Given the description of an element on the screen output the (x, y) to click on. 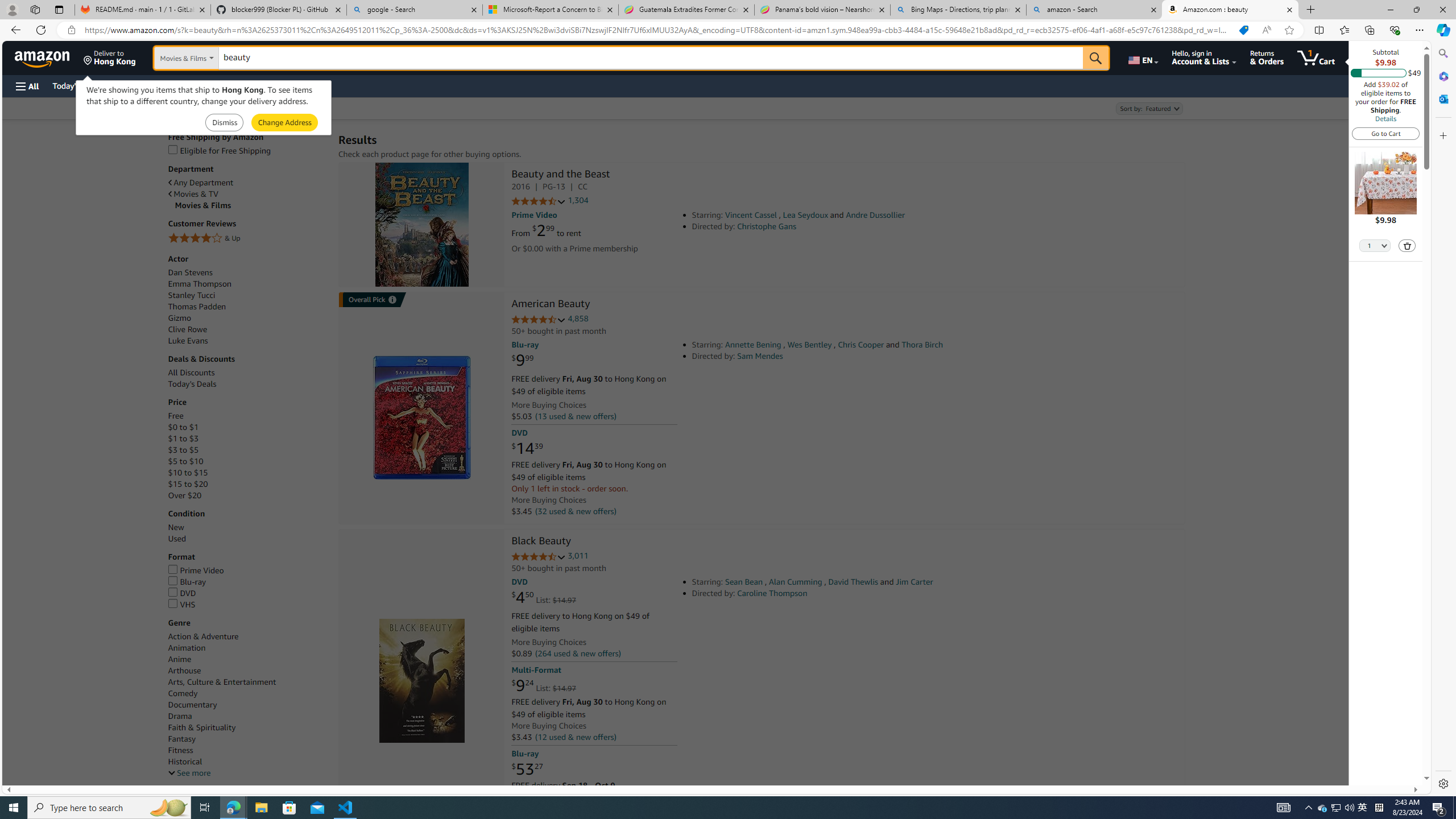
Any Department (200, 182)
New (247, 527)
Directed by: Christophe Gans (850, 226)
$3 to $5 (183, 449)
Historical (247, 761)
Anime (179, 659)
$10 to $15 (187, 472)
Free (247, 415)
Quantity Selector (1374, 245)
Over $20 (247, 495)
Amazon.com : beauty (1230, 9)
Action & Adventure (247, 636)
